Given the description of an element on the screen output the (x, y) to click on. 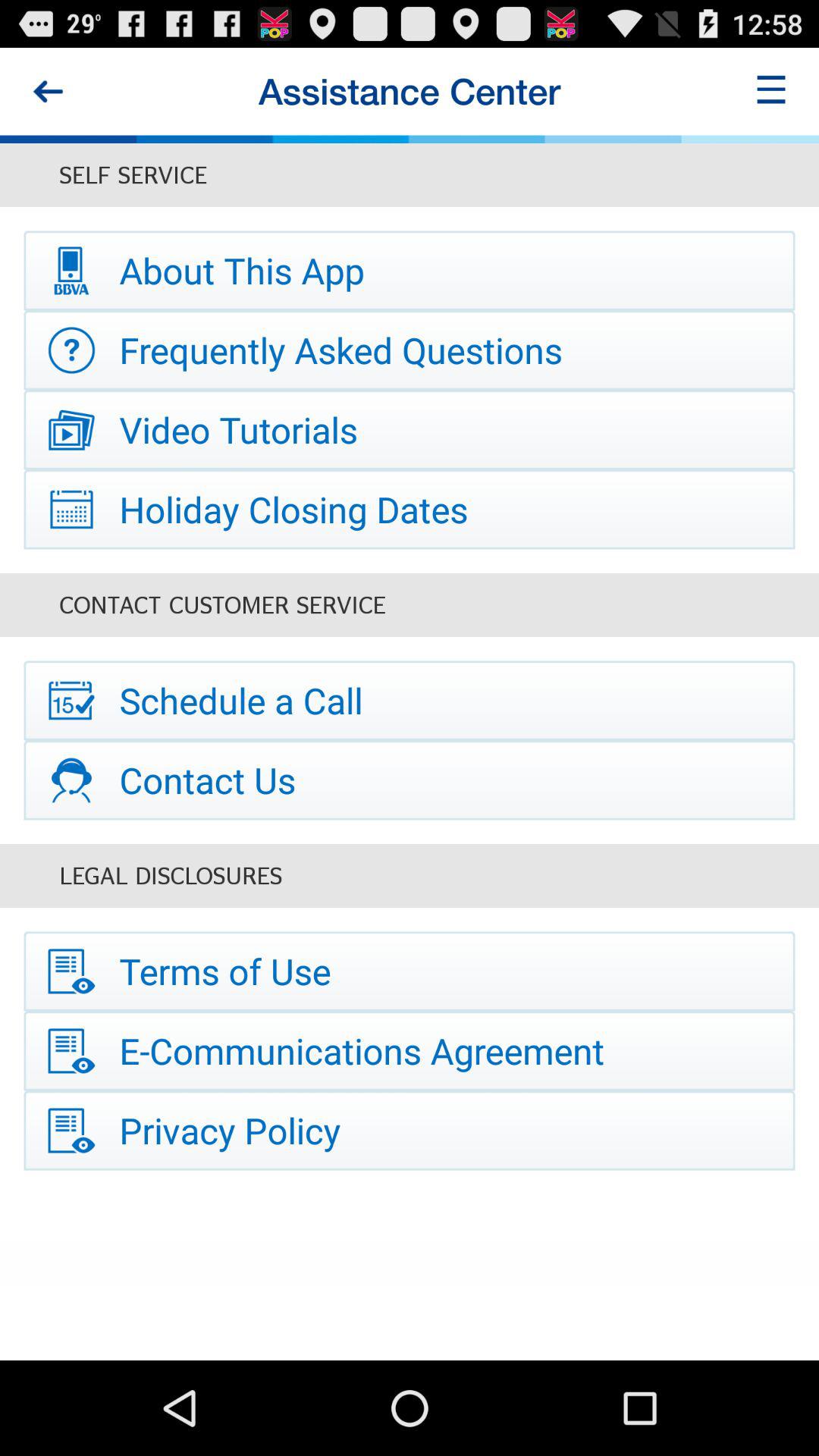
select the item next to the assistance center icon (47, 91)
